Given the description of an element on the screen output the (x, y) to click on. 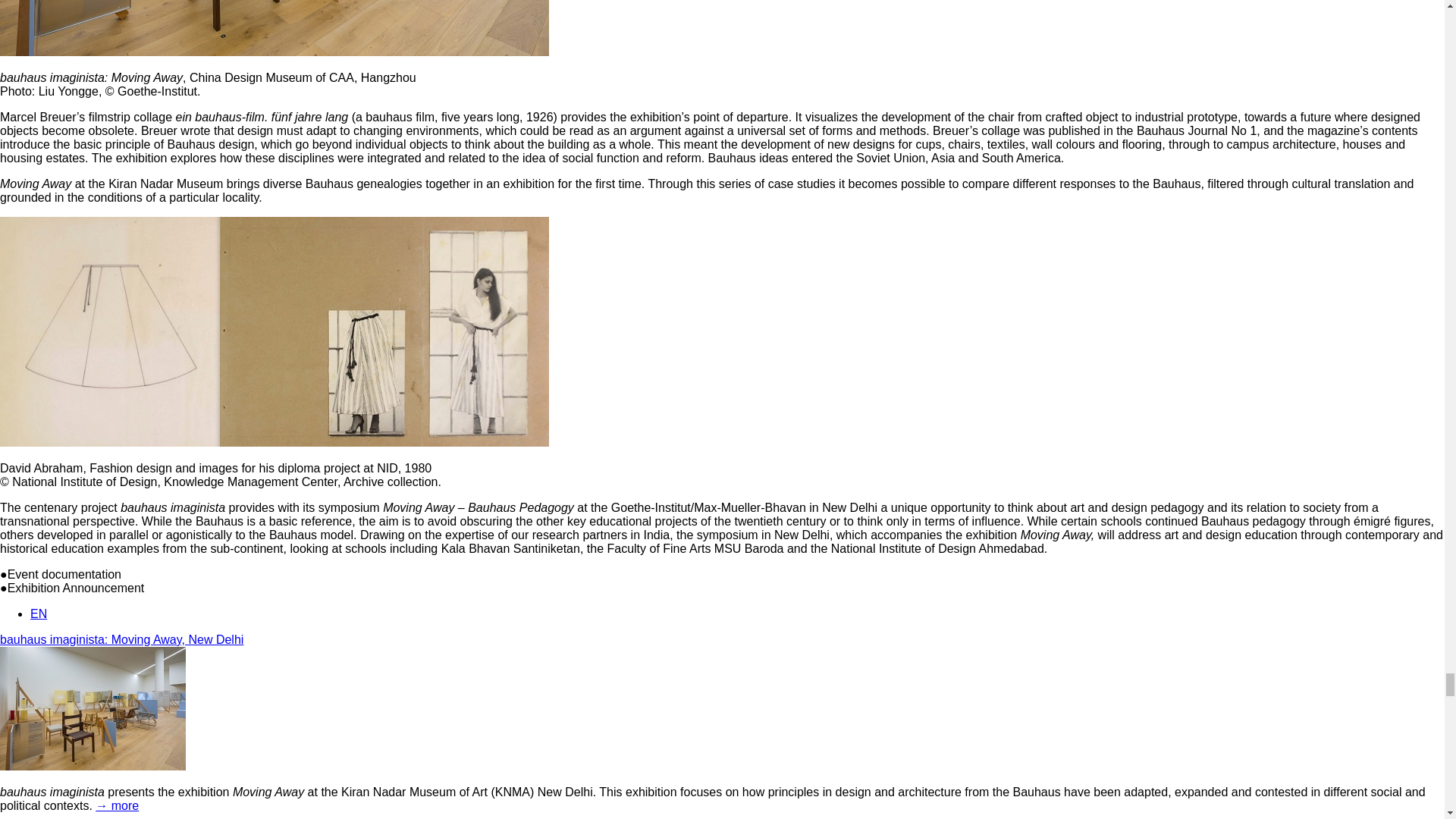
EN (38, 613)
